Given the description of an element on the screen output the (x, y) to click on. 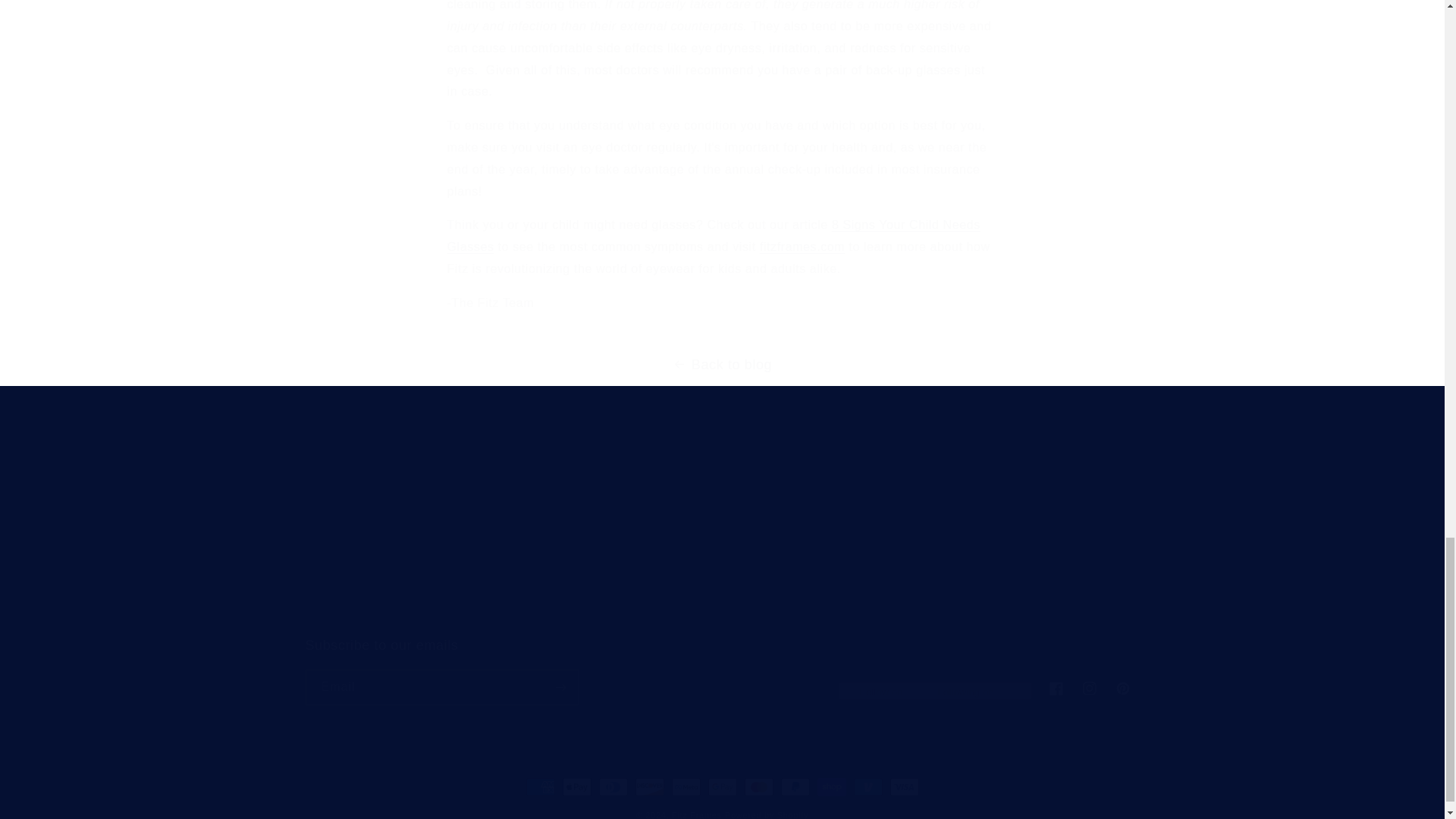
Fitz x Crac (332, 537)
fitzframes.com (802, 246)
Blue Light (330, 589)
About (721, 671)
Sunglasses (722, 560)
8 Signs Your Child Needs Glasses (600, 537)
